Given the description of an element on the screen output the (x, y) to click on. 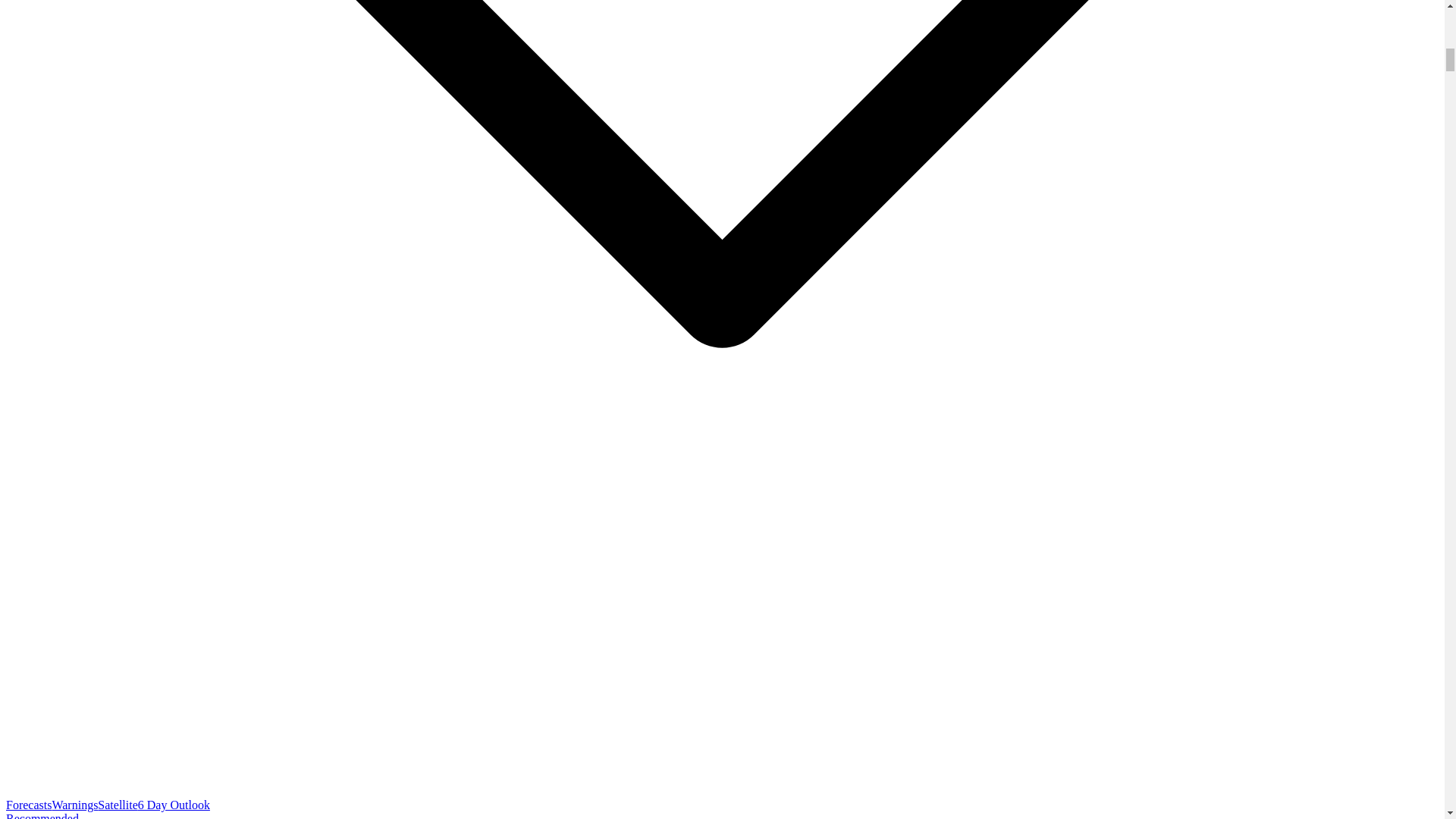
Satellite (116, 804)
6 Day Outlook (173, 804)
Recommended (41, 815)
Forecasts (27, 804)
Warnings (73, 804)
